Given the description of an element on the screen output the (x, y) to click on. 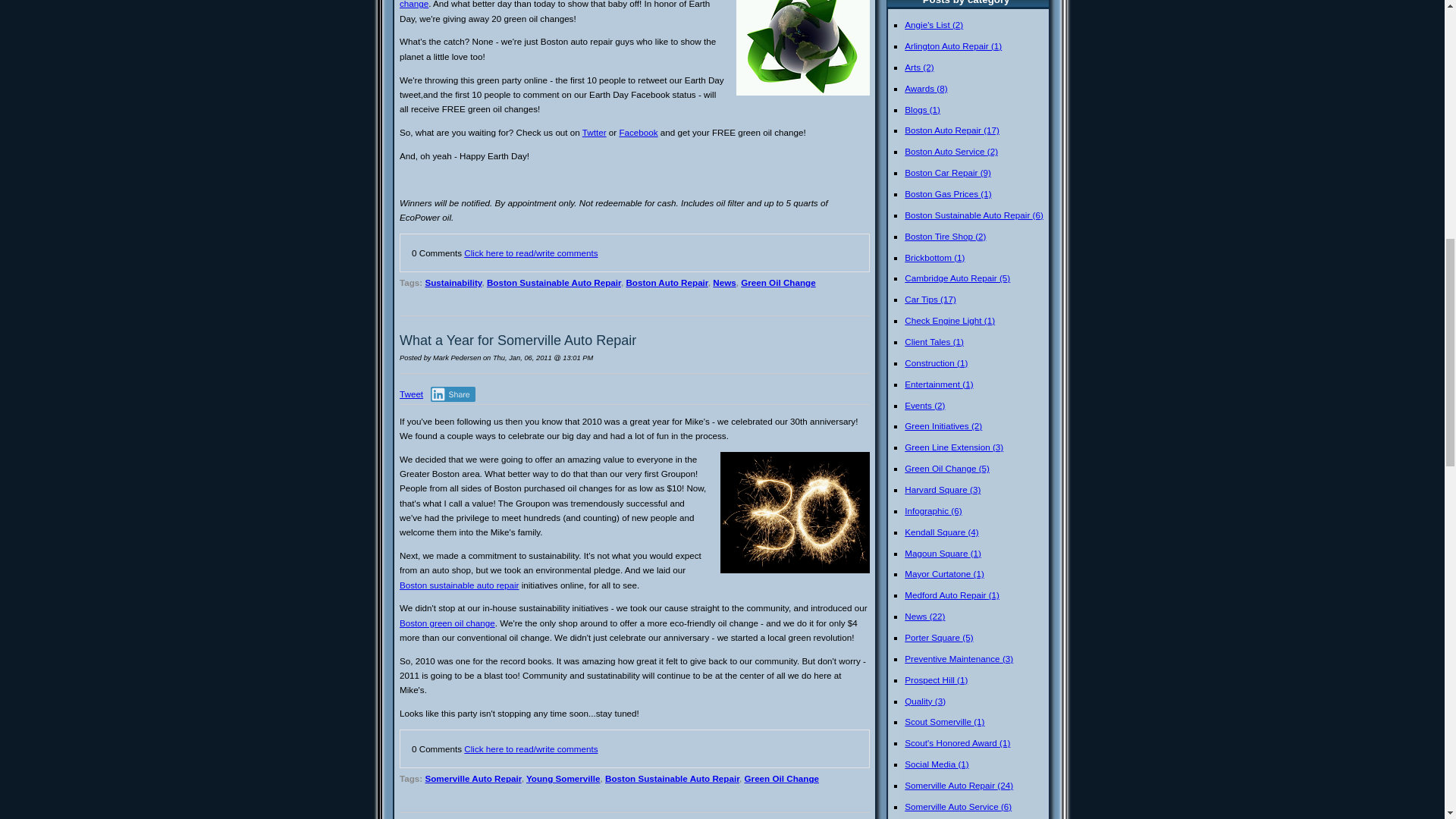
Boston green oil change (547, 4)
Boston green oil change (446, 623)
Twtter (594, 132)
Facebook (638, 132)
Boston sustainable auto repair (458, 584)
